Given the description of an element on the screen output the (x, y) to click on. 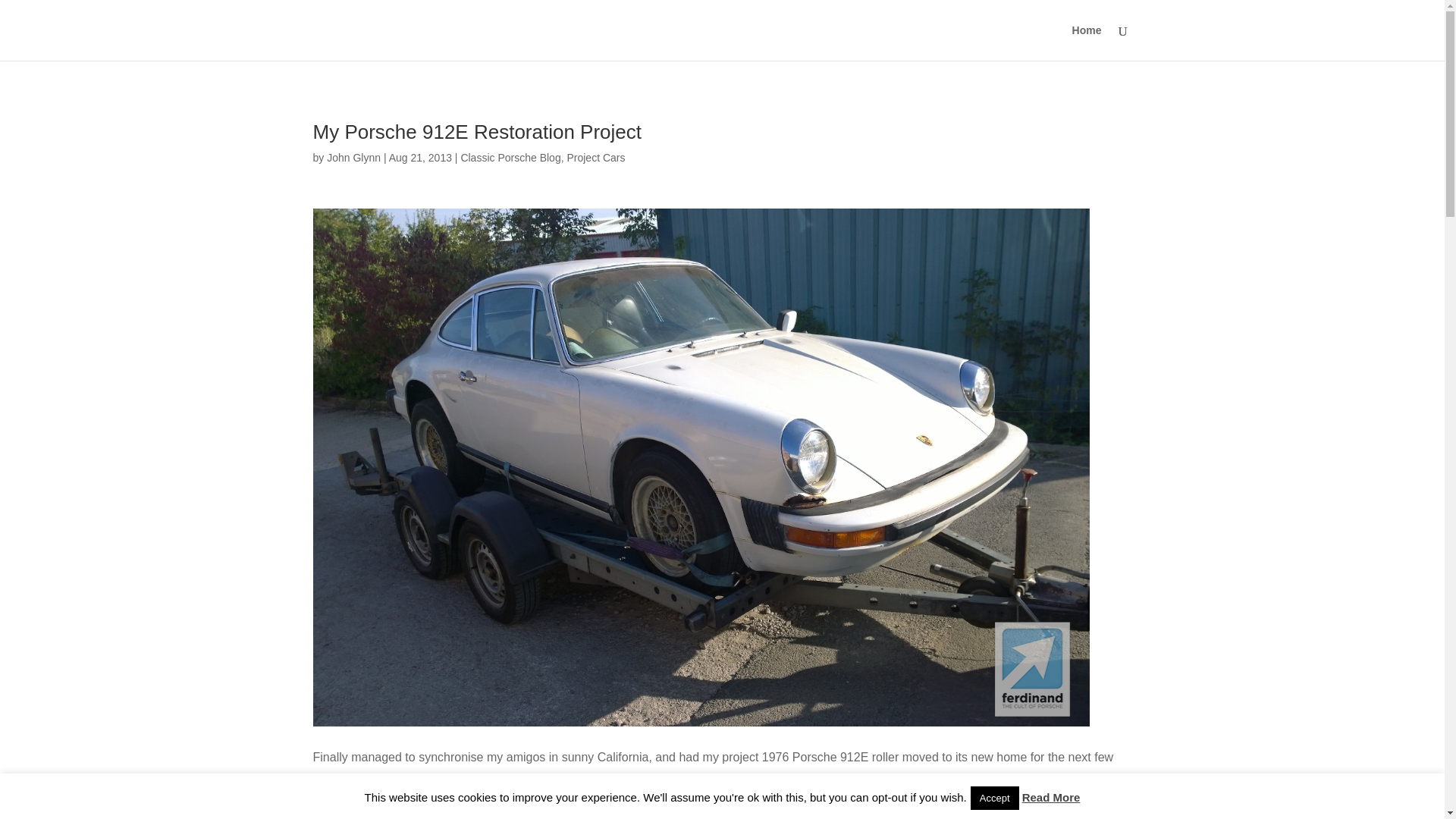
Classic Porsche Blog (510, 157)
Project Cars (595, 157)
John Glynn (353, 157)
Posts by John Glynn (353, 157)
